Given the description of an element on the screen output the (x, y) to click on. 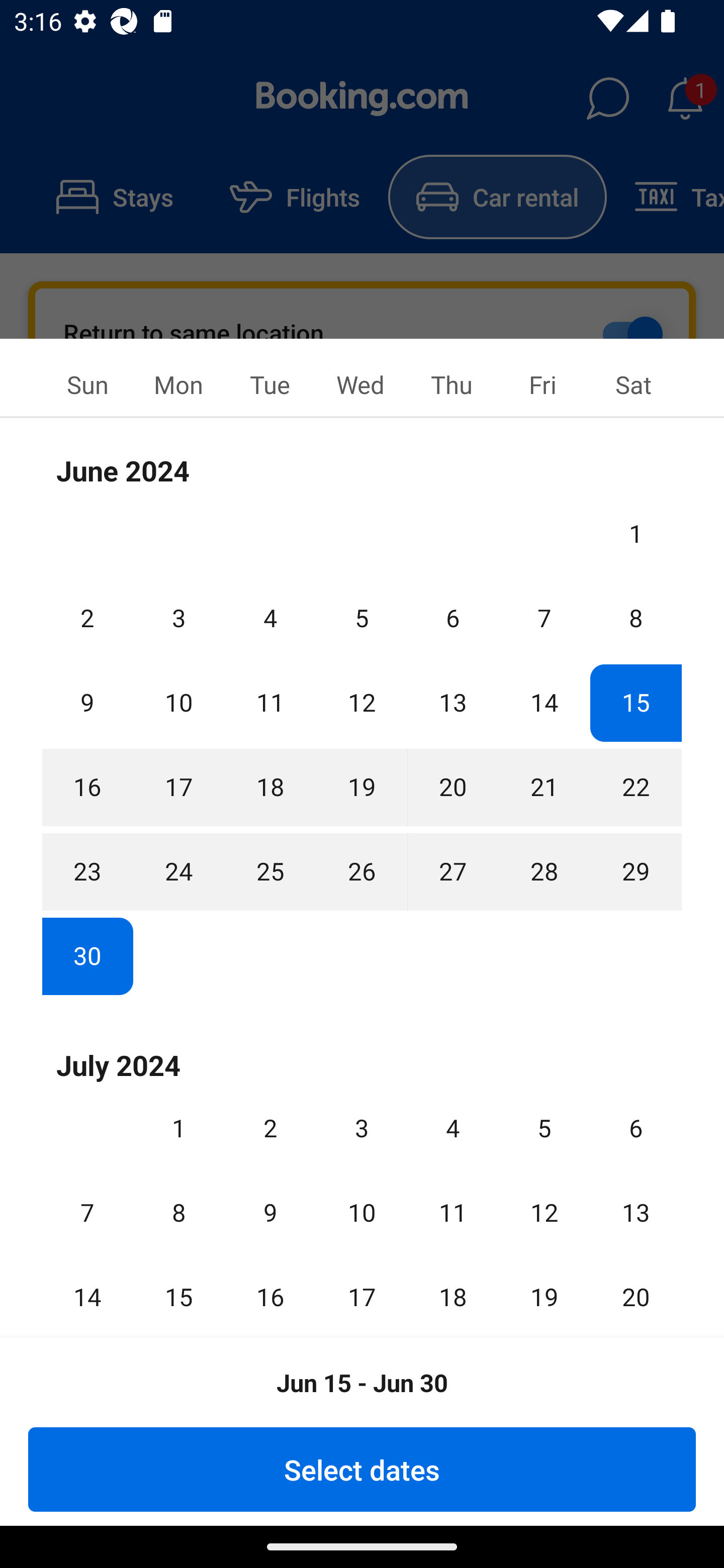
Select dates (361, 1468)
